Given the description of an element on the screen output the (x, y) to click on. 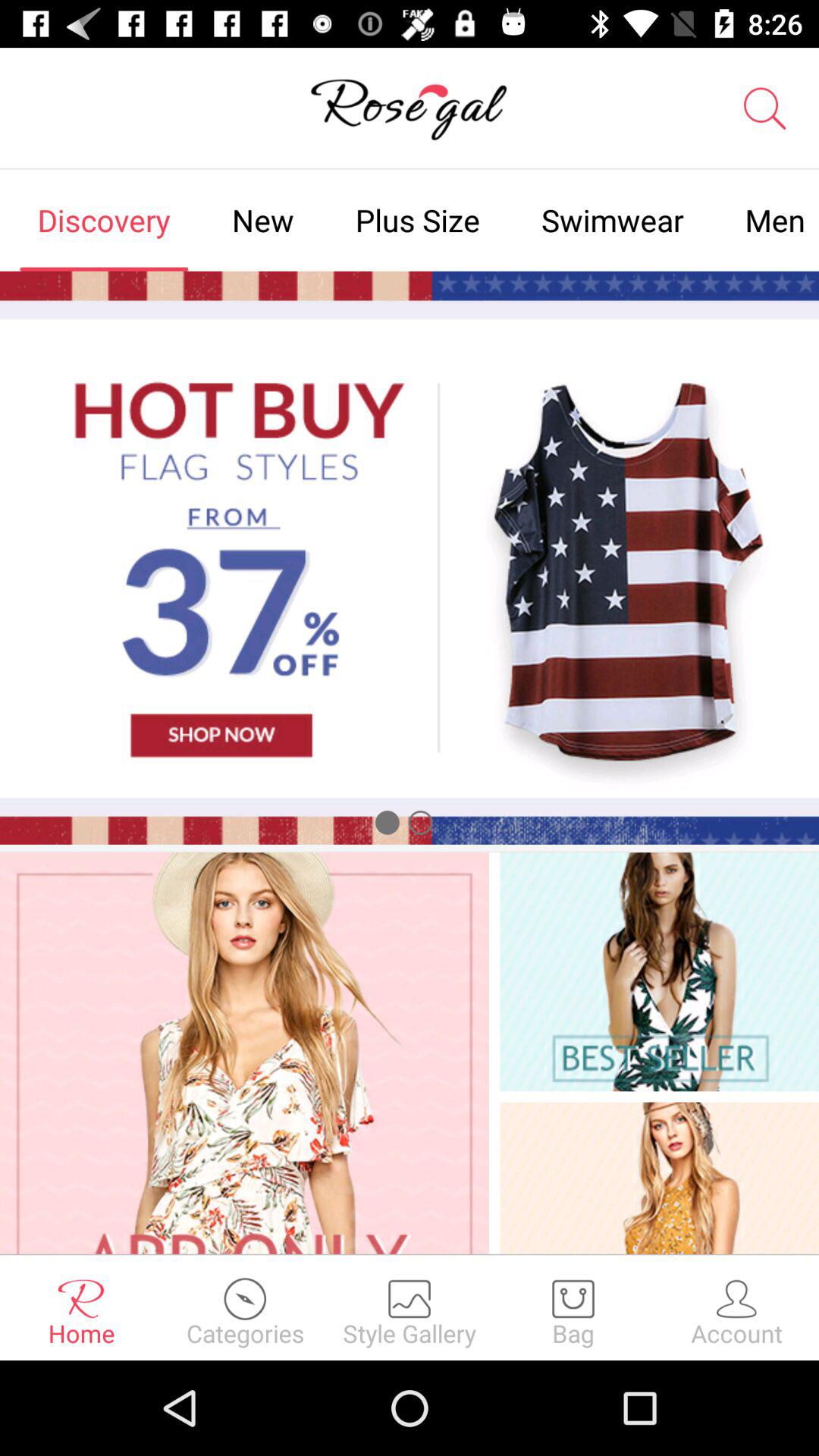
click on categories with the icon (245, 1307)
click the style gallery icon on the web page (409, 1307)
